Given the description of an element on the screen output the (x, y) to click on. 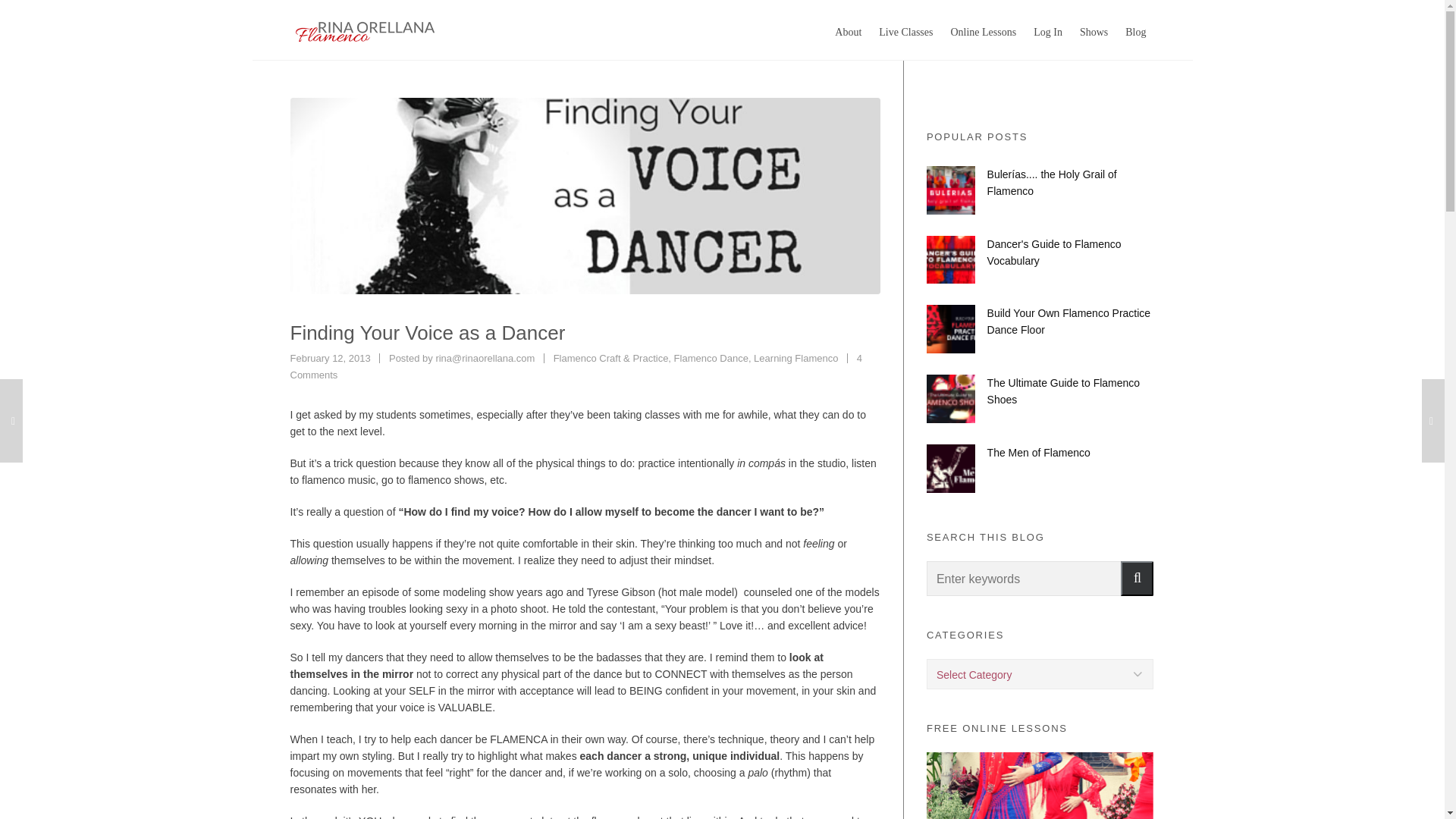
4 Comments (575, 366)
4 Comments (575, 366)
Live Classes (905, 30)
Online Lessons (983, 30)
Flamenco Dance (711, 357)
Learning Flamenco (796, 357)
